Given the description of an element on the screen output the (x, y) to click on. 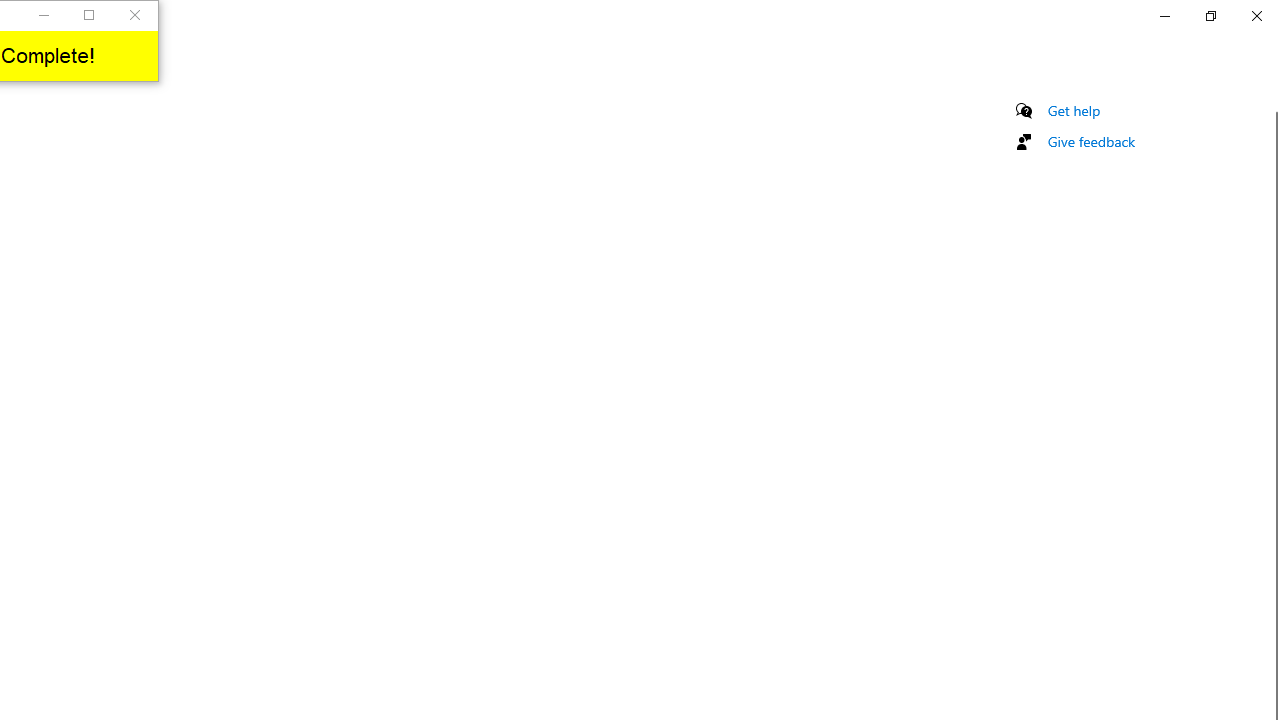
Minimize Settings (1164, 15)
Pinning Magnifier to Start (1096, 145)
Restore Settings (1210, 15)
Get help (1074, 212)
Give feedback (1091, 243)
Close Settings (1256, 15)
Vertical Small Decrease (1272, 103)
